Given the description of an element on the screen output the (x, y) to click on. 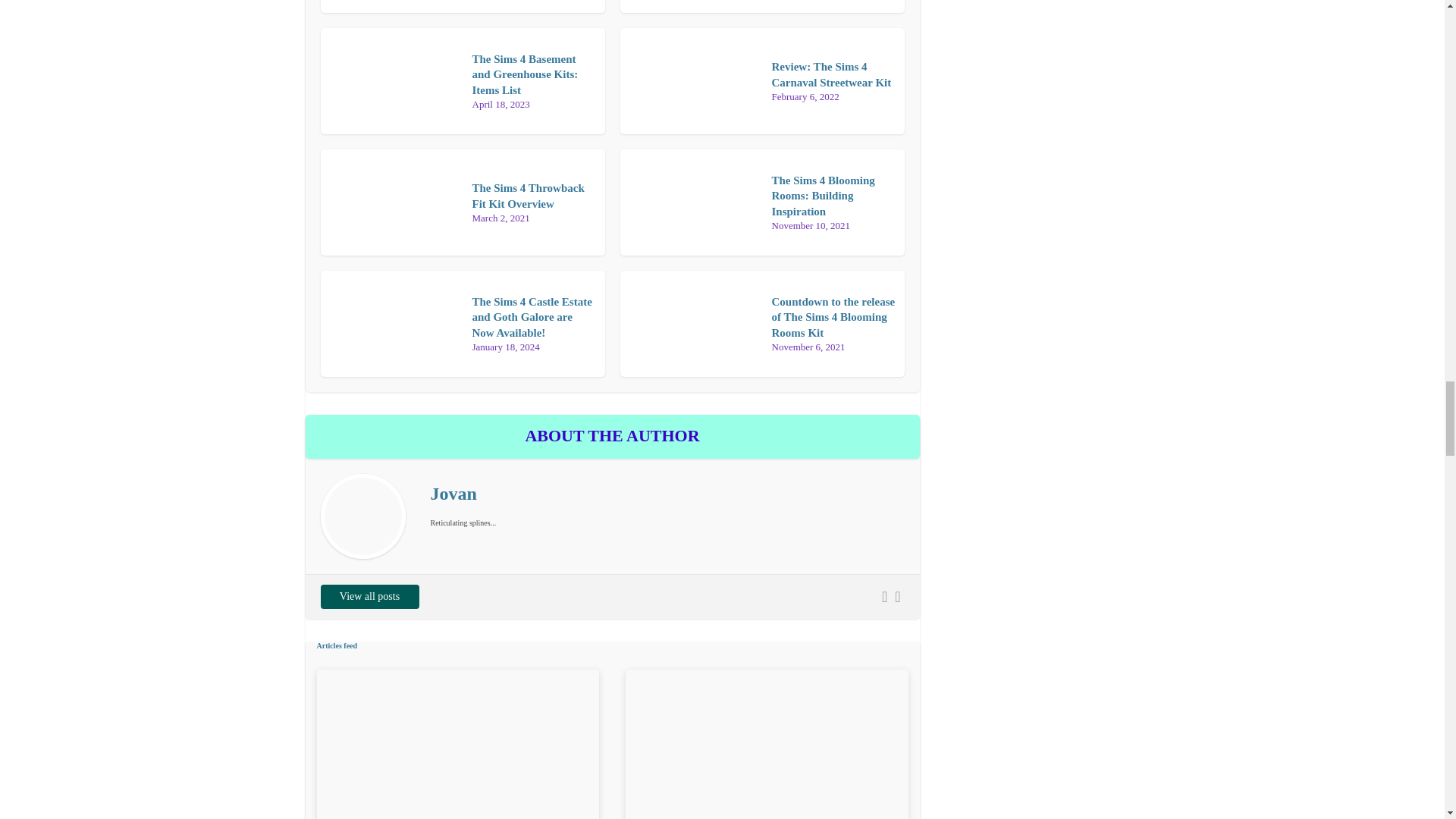
The Sims 4 Throwback Fit Kit Overview 9 (389, 202)
Review: The Sims 4 Carnaval Streetwear Kit (831, 73)
The Sims 4 Basement and Greenhouse Kits: Items List (524, 74)
The Sims 4 Basement and Greenhouse Kits: Items List 7 (389, 80)
Review: The Sims 4 Carnaval Streetwear Kit 8 (689, 80)
